Given the description of an element on the screen output the (x, y) to click on. 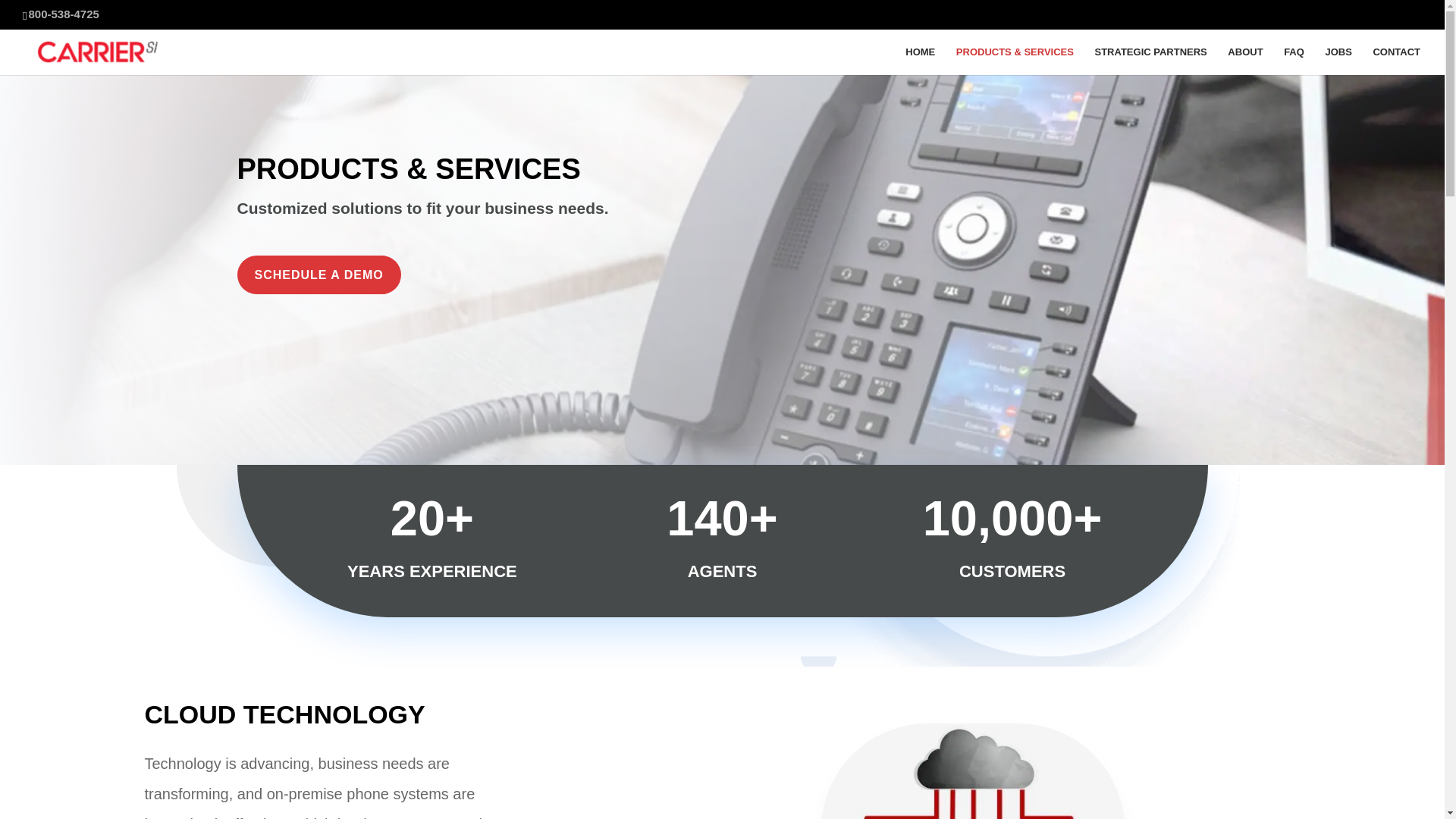
HOME (919, 60)
Cloud Technology (1011, 771)
ABOUT (1244, 60)
CONTACT (1397, 60)
STRATEGIC PARTNERS (1150, 60)
JOBS (1337, 60)
SCHEDULE A DEMO (317, 274)
